Given the description of an element on the screen output the (x, y) to click on. 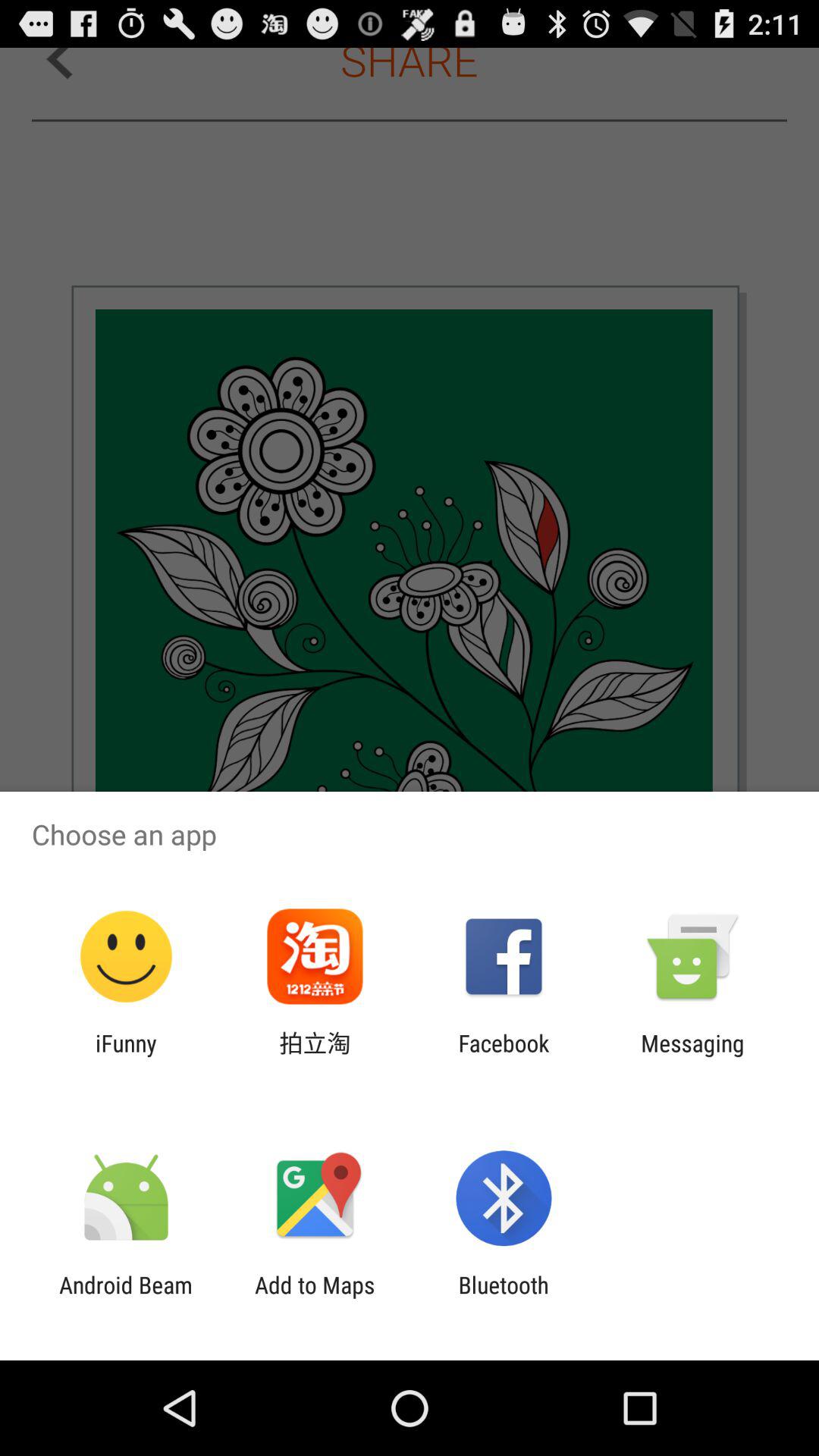
scroll until the messaging app (692, 1056)
